Given the description of an element on the screen output the (x, y) to click on. 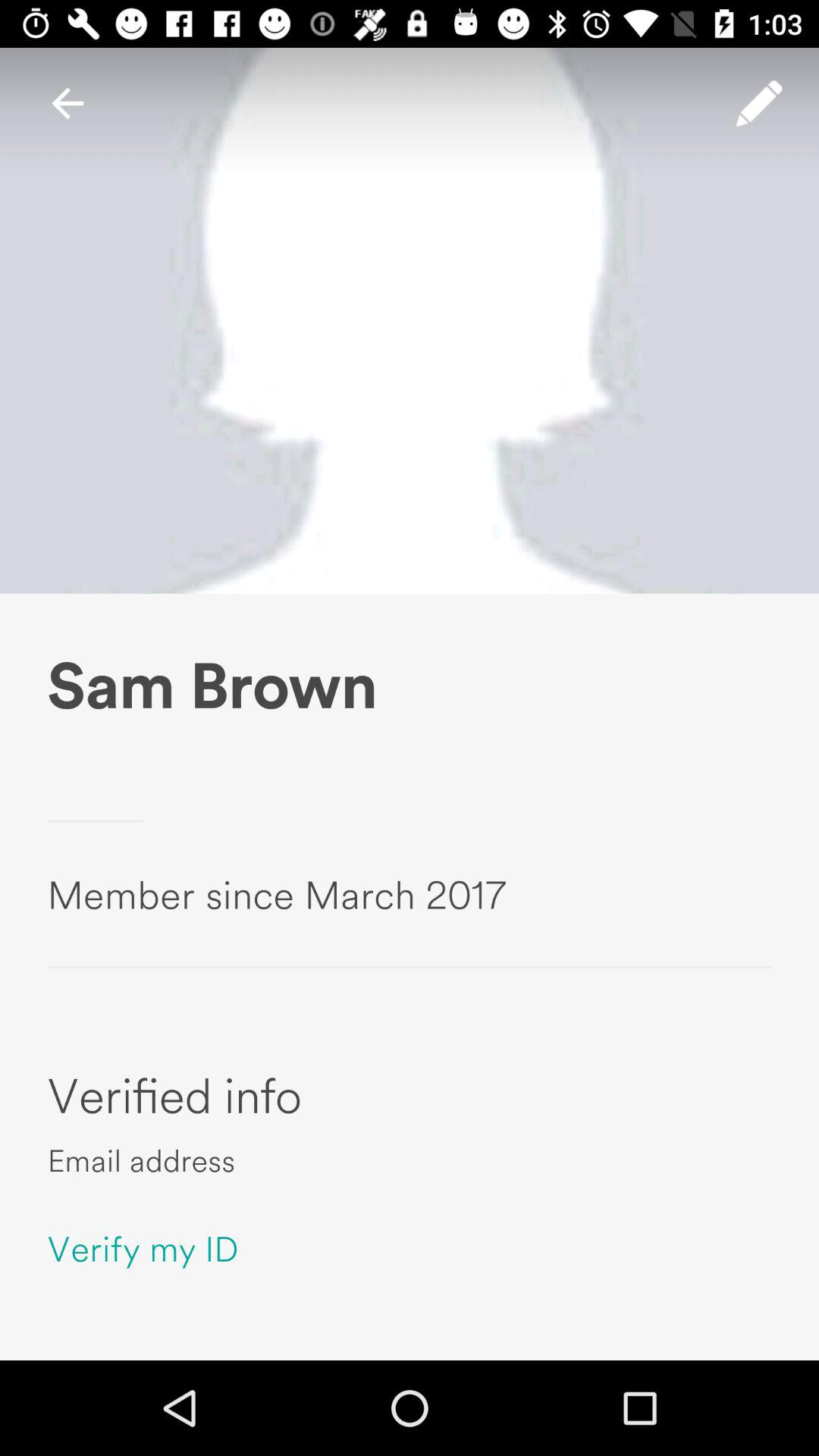
select the icon above the sam brown icon (67, 103)
